Given the description of an element on the screen output the (x, y) to click on. 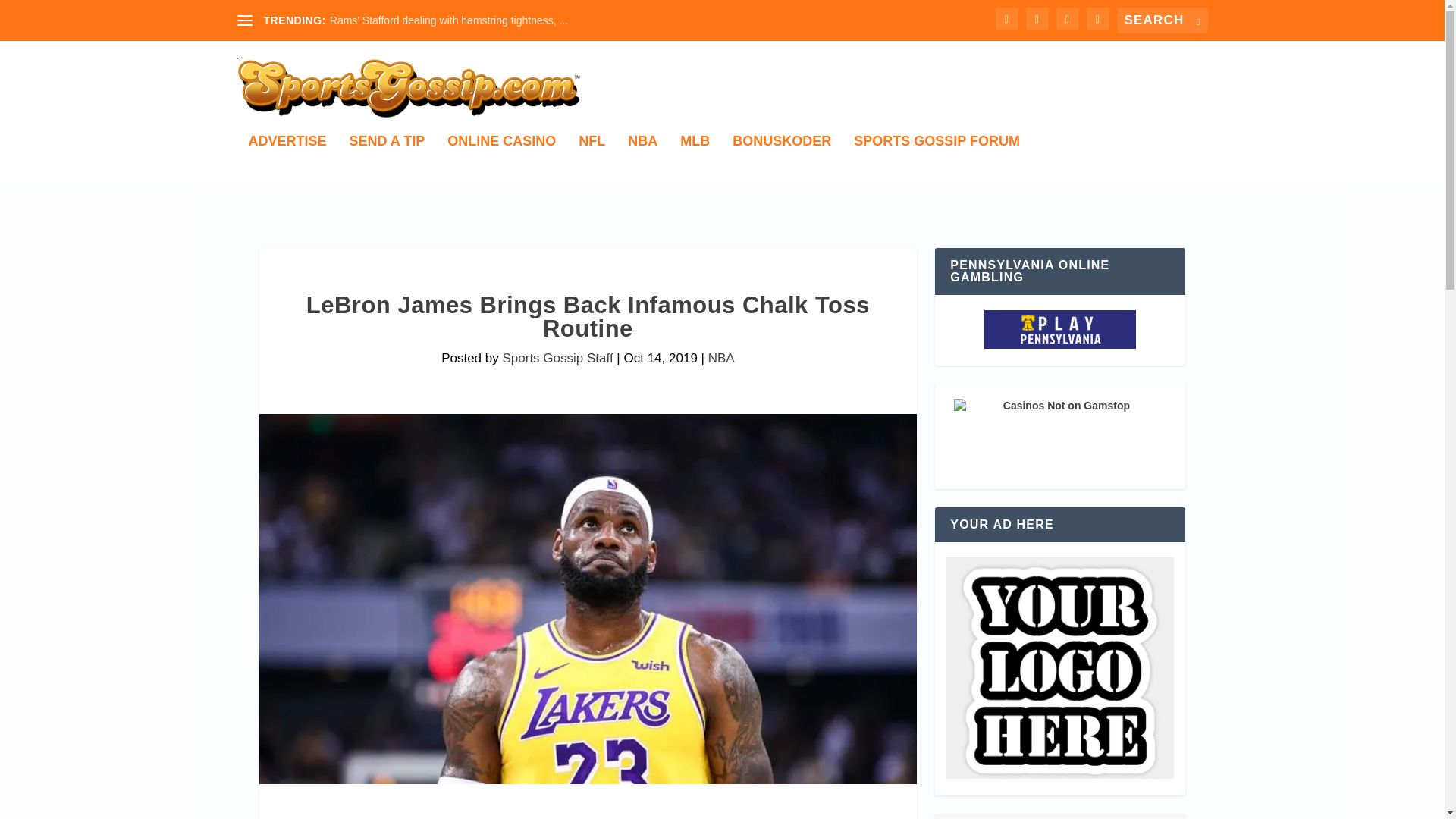
Search for: (1161, 20)
BONUSKODER (781, 161)
SEND A TIP (387, 161)
ONLINE CASINO (501, 161)
SPORTS GOSSIP FORUM (936, 161)
ADVERTISE (287, 161)
Sports Gossip Staff (557, 358)
Posts by Sports Gossip Staff (557, 358)
NBA (721, 358)
Casinos Not on Gamstop (1059, 436)
